Given the description of an element on the screen output the (x, y) to click on. 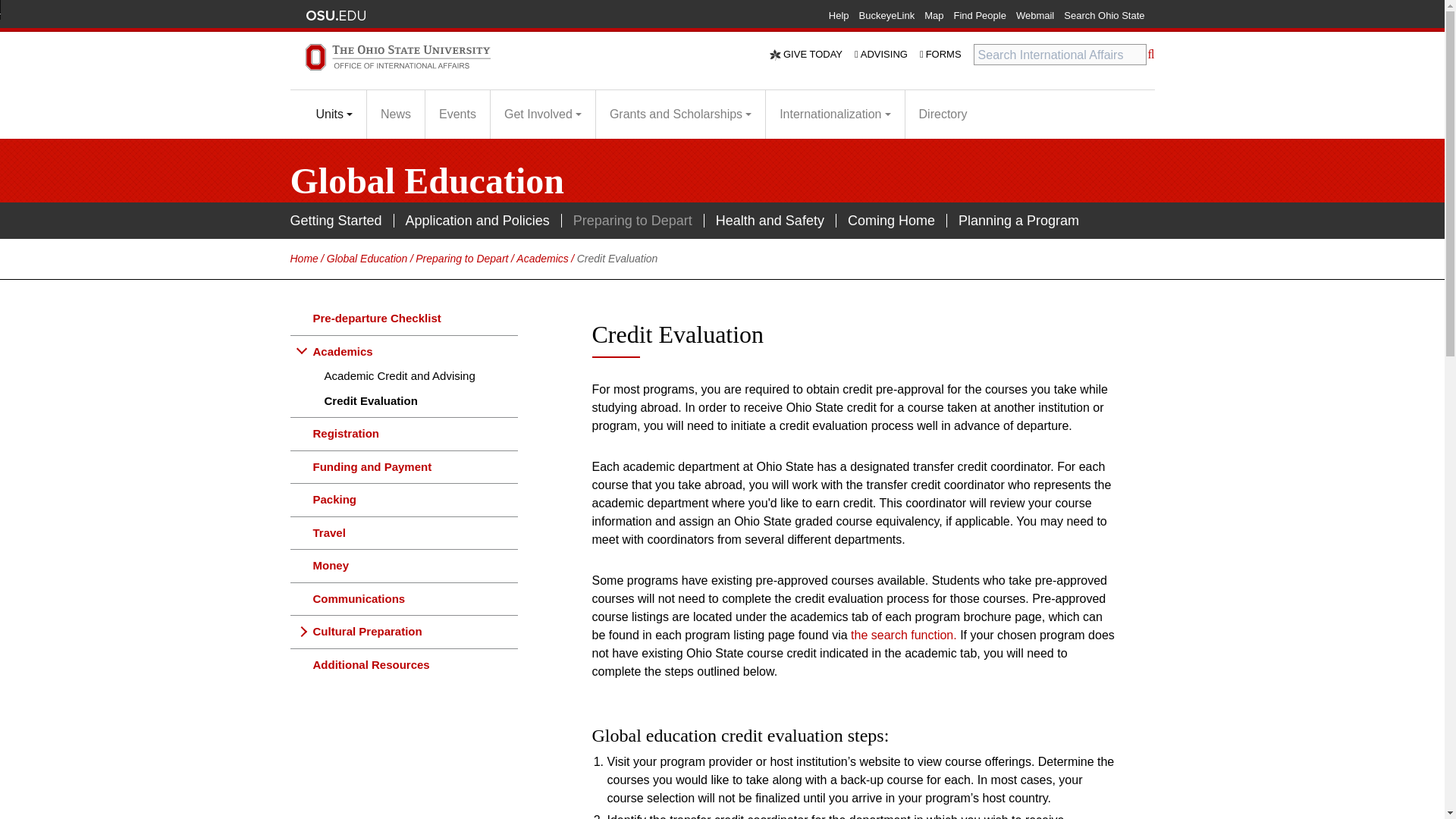
GIVE TODAY (812, 54)
Grants and Scholarships (680, 114)
News (395, 114)
Map (933, 15)
Webmail (1035, 15)
BuckeyeLink (887, 15)
The Ohio State University (334, 15)
Search Ohio State (1104, 15)
Find People (979, 15)
Events (456, 114)
ADVISING (887, 54)
FORMS (947, 54)
The Ohio State University (334, 15)
Help (838, 15)
Units (333, 114)
